Given the description of an element on the screen output the (x, y) to click on. 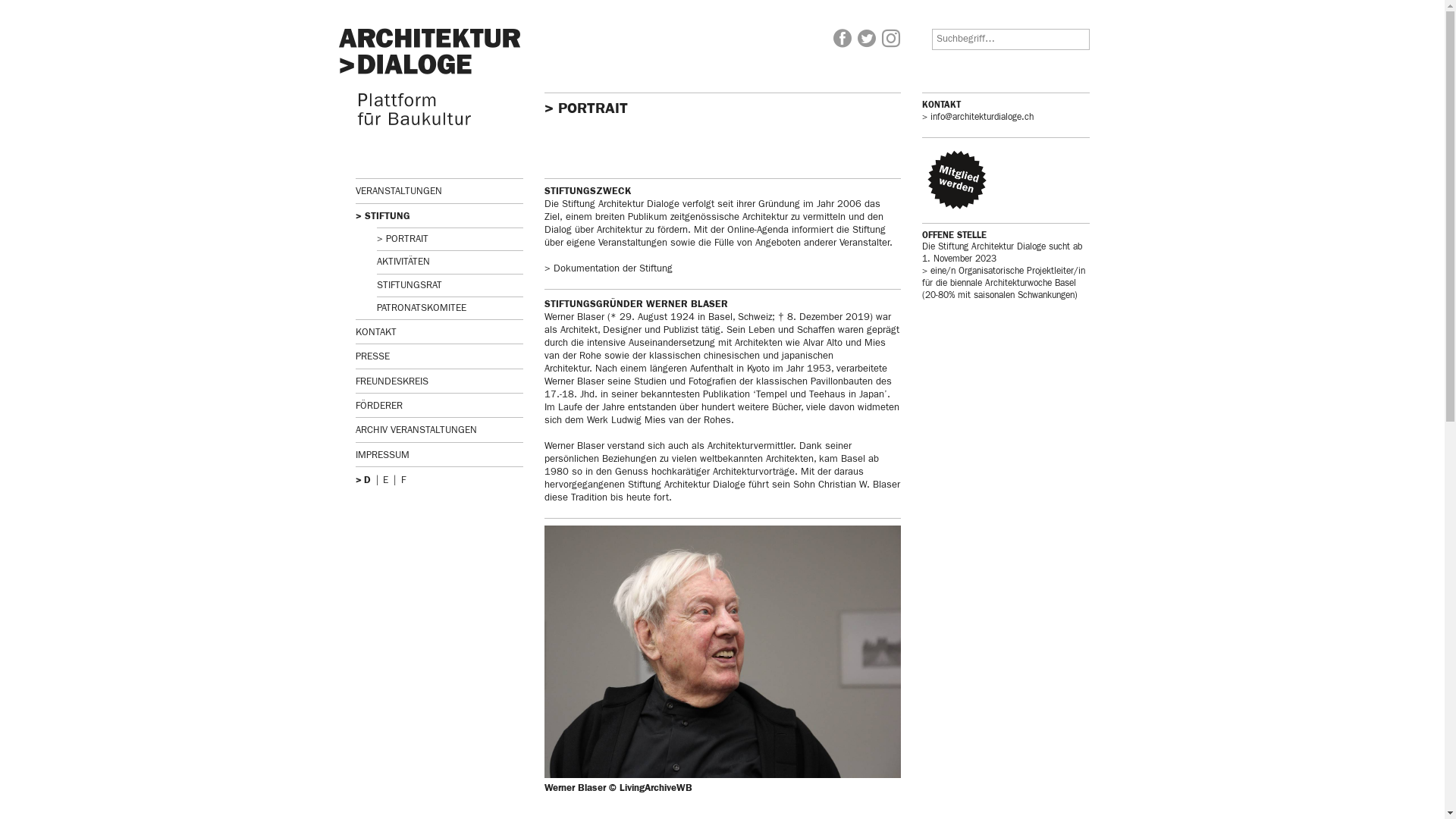
FREUNDESKREIS Element type: text (438, 381)
info@architekturdialoge.ch Element type: text (977, 117)
F Element type: text (403, 480)
eine/n Organisatorische Projektleiter/in Element type: text (1003, 271)
VERANSTALTUNGEN Element type: text (438, 191)
IMPRESSUM Element type: text (438, 454)
Dokumentation der Stiftung Element type: text (608, 268)
Twitter Element type: hover (865, 39)
STIFTUNGSRAT Element type: text (449, 285)
STIFTUNG Element type: text (438, 216)
D Element type: text (367, 480)
KONTAKT Element type: text (438, 332)
PRESSE Element type: text (438, 356)
Suchen Element type: text (81, 10)
ARCHIV VERANSTALTUNGEN Element type: text (438, 429)
PORTRAIT Element type: text (449, 238)
Instagram Element type: hover (890, 39)
Facebook Element type: hover (841, 39)
E Element type: text (385, 480)
Architektur Dialoge: zur Startseite Element type: hover (430, 76)
PATRONATSKOMITEE Element type: text (449, 307)
